Given the description of an element on the screen output the (x, y) to click on. 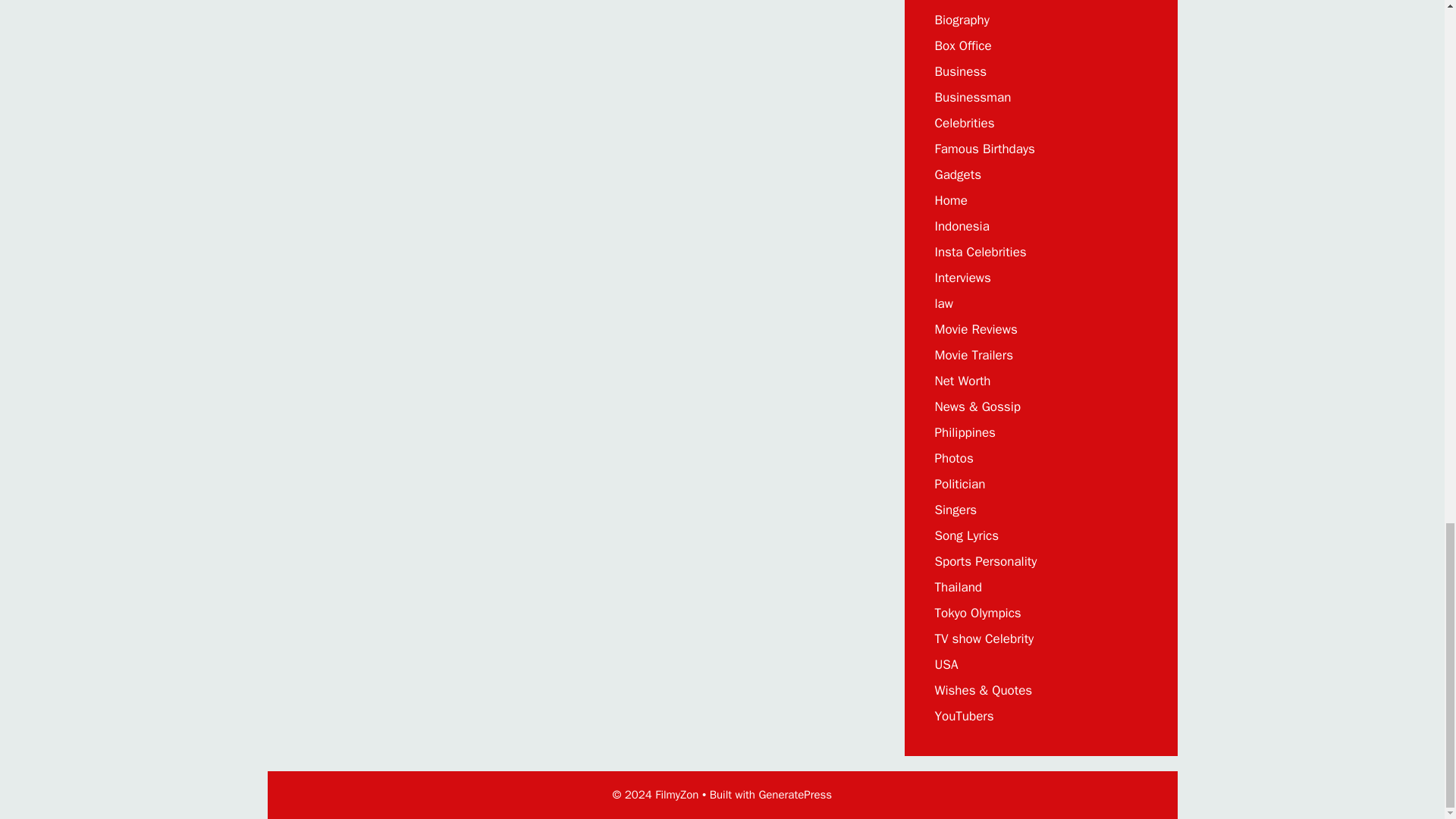
Scroll back to top (1406, 62)
